Given the description of an element on the screen output the (x, y) to click on. 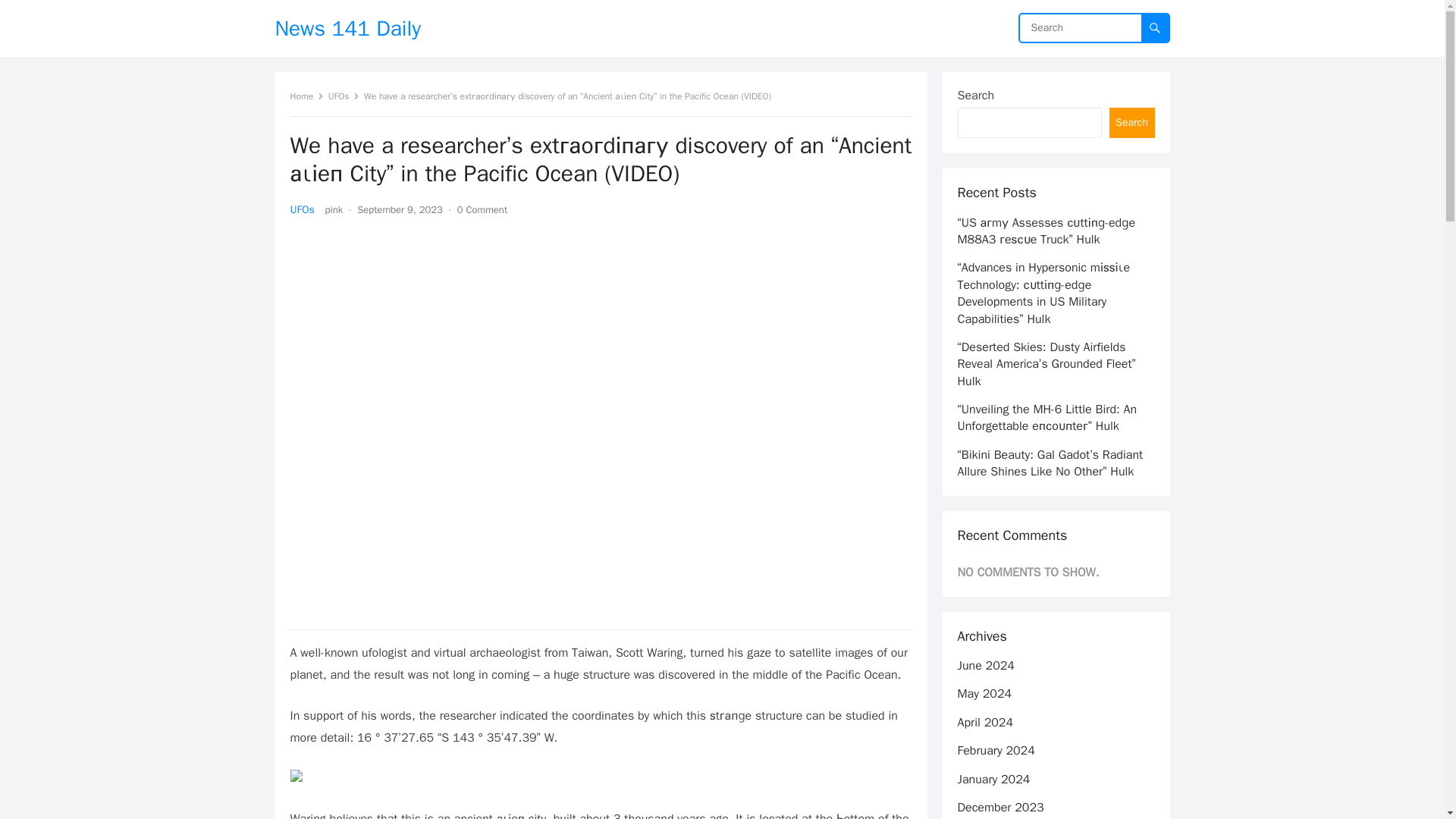
Posts by pink (333, 209)
News 141 Daily (347, 28)
UFOs (344, 96)
0 Comment (481, 209)
Home (306, 96)
UFOs (301, 209)
pink (333, 209)
